Given the description of an element on the screen output the (x, y) to click on. 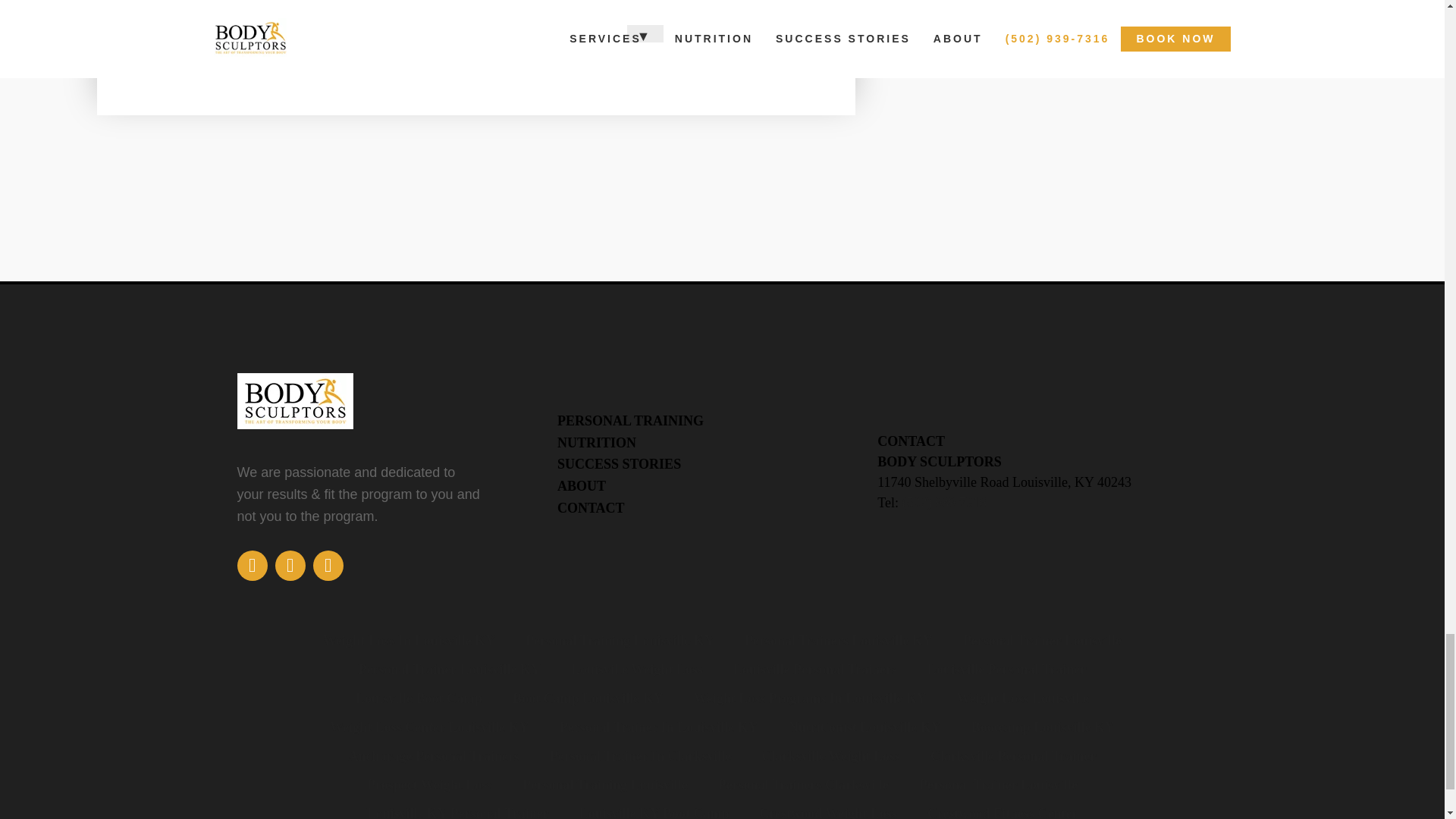
Weight Loss In Louisville KY (409, 640)
ABOUT (581, 485)
PERSONAL TRAINING (630, 420)
Post Comment (202, 47)
SUCCESS STORIES (619, 463)
Personal Trainer Louisville (1042, 640)
Post Comment (202, 47)
Personal Trainers Louisville KY (838, 640)
NUTRITION (596, 442)
CONTACT (590, 507)
Personal Training Louisville KY (620, 640)
